Given the description of an element on the screen output the (x, y) to click on. 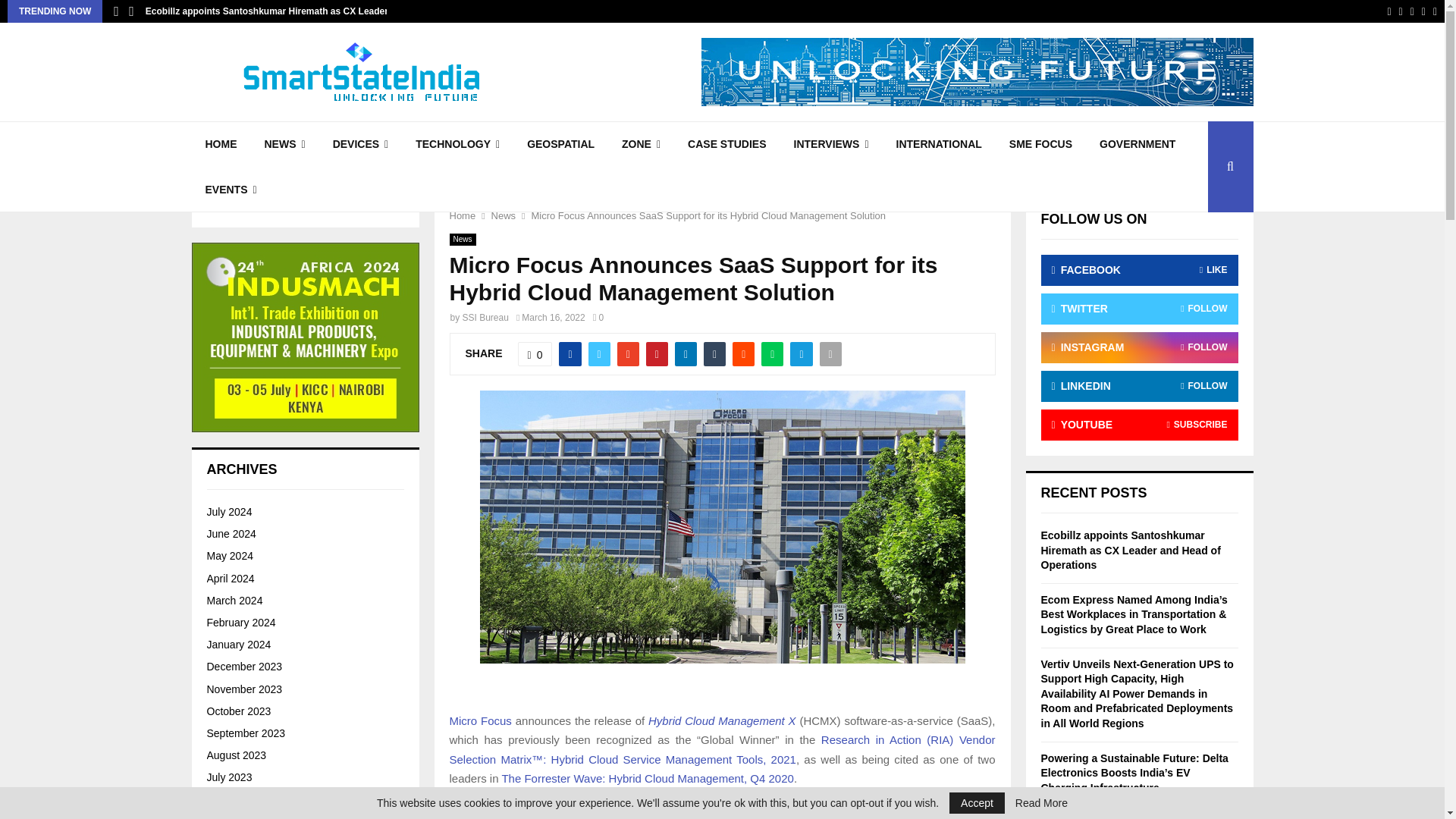
NEWS (284, 144)
HOME (220, 144)
